Given the description of an element on the screen output the (x, y) to click on. 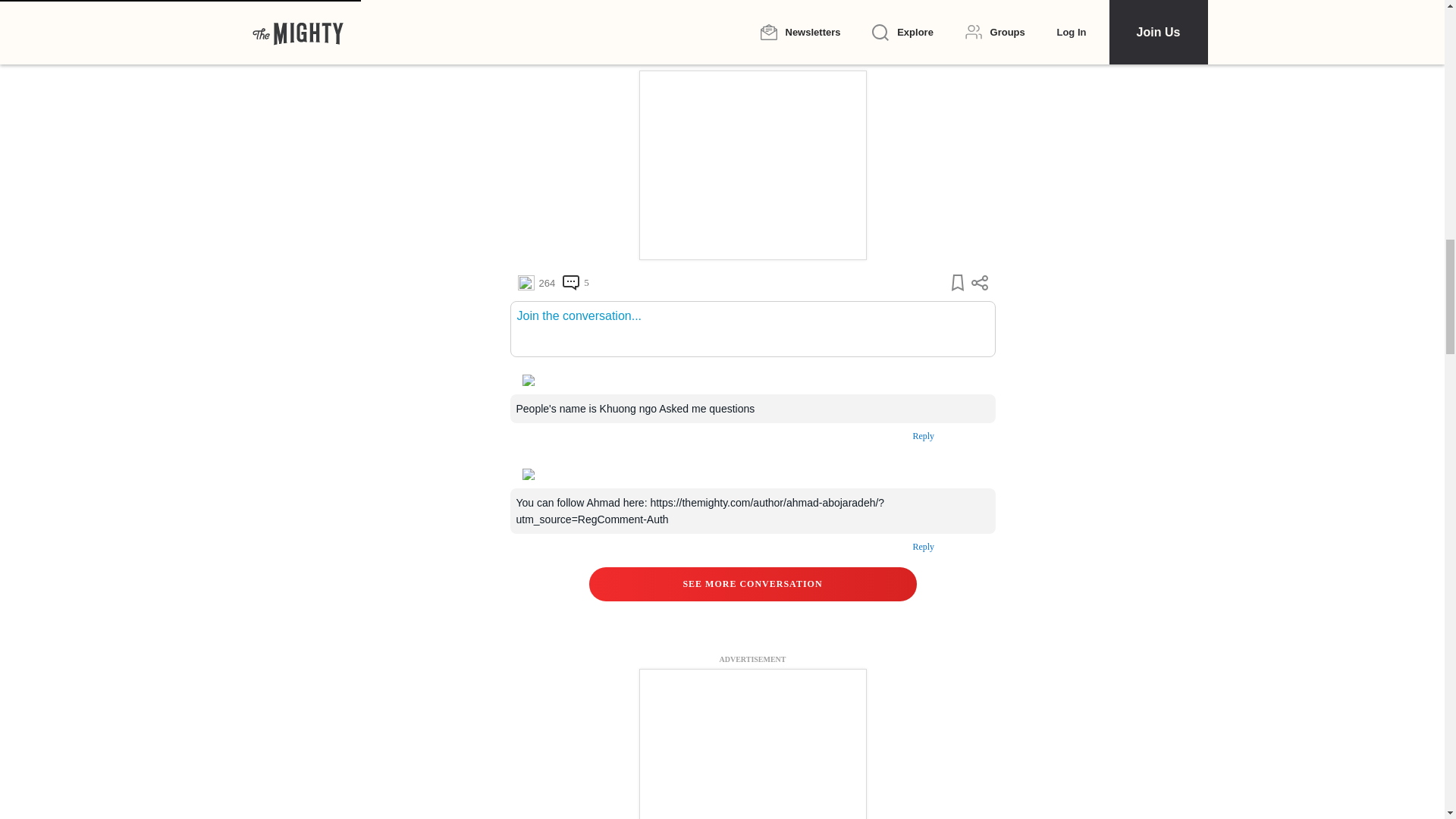
264 (535, 282)
